Given the description of an element on the screen output the (x, y) to click on. 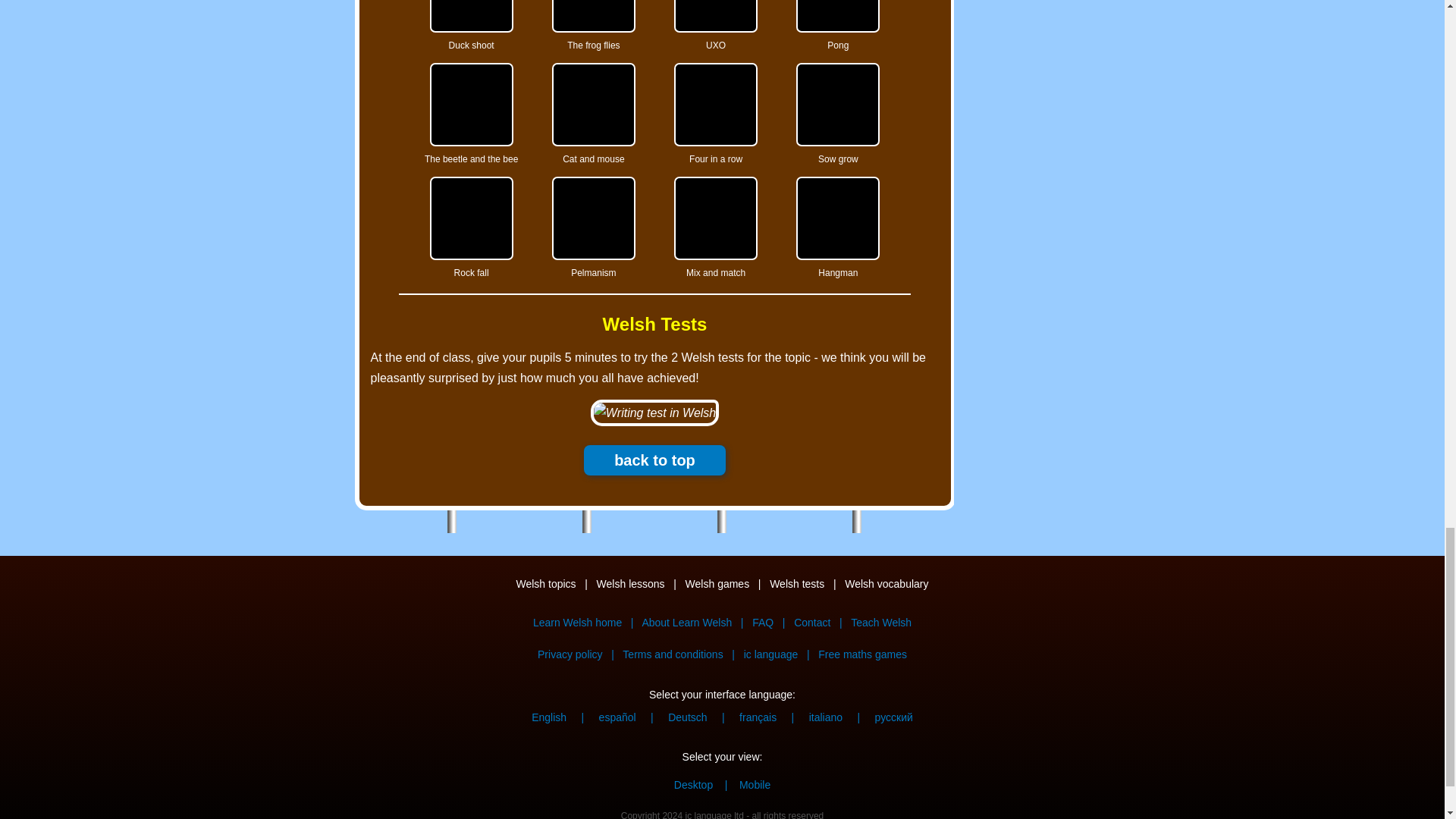
Pelmanism (592, 218)
The frog flies (592, 16)
Pong (837, 16)
Four in a row (715, 104)
Welsh Tests (654, 323)
Rock fall (471, 218)
Hangman (837, 218)
Mix and match (715, 218)
Sow grow (837, 104)
Move the frog to catch the flies before the bird catches you (592, 16)
Break the bricks to score points and get questions (837, 16)
The beetle and the bee (471, 104)
UXO (715, 16)
Cat and mouse (592, 104)
